Given the description of an element on the screen output the (x, y) to click on. 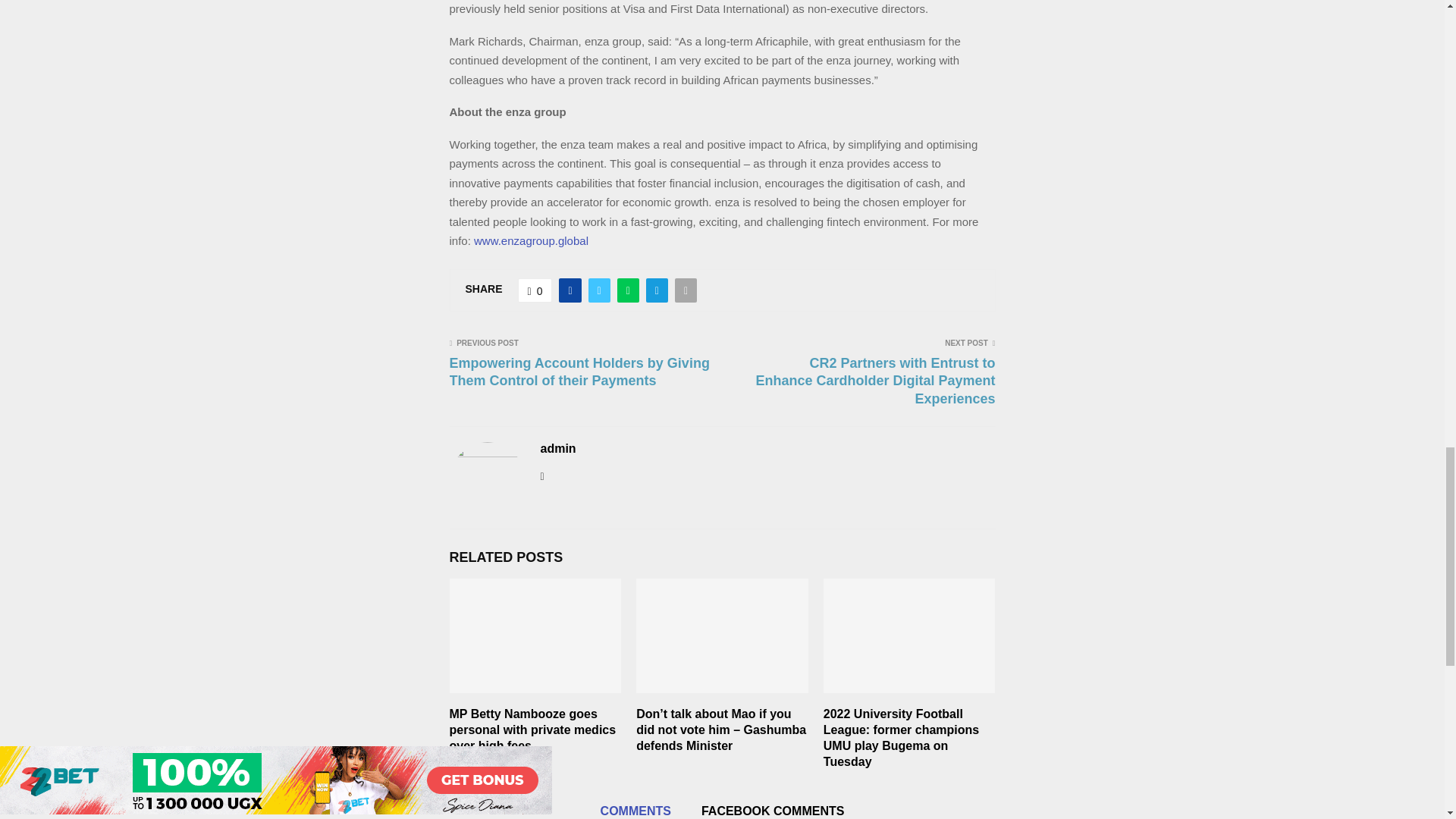
Posts by admin (557, 449)
Like (535, 289)
